Given the description of an element on the screen output the (x, y) to click on. 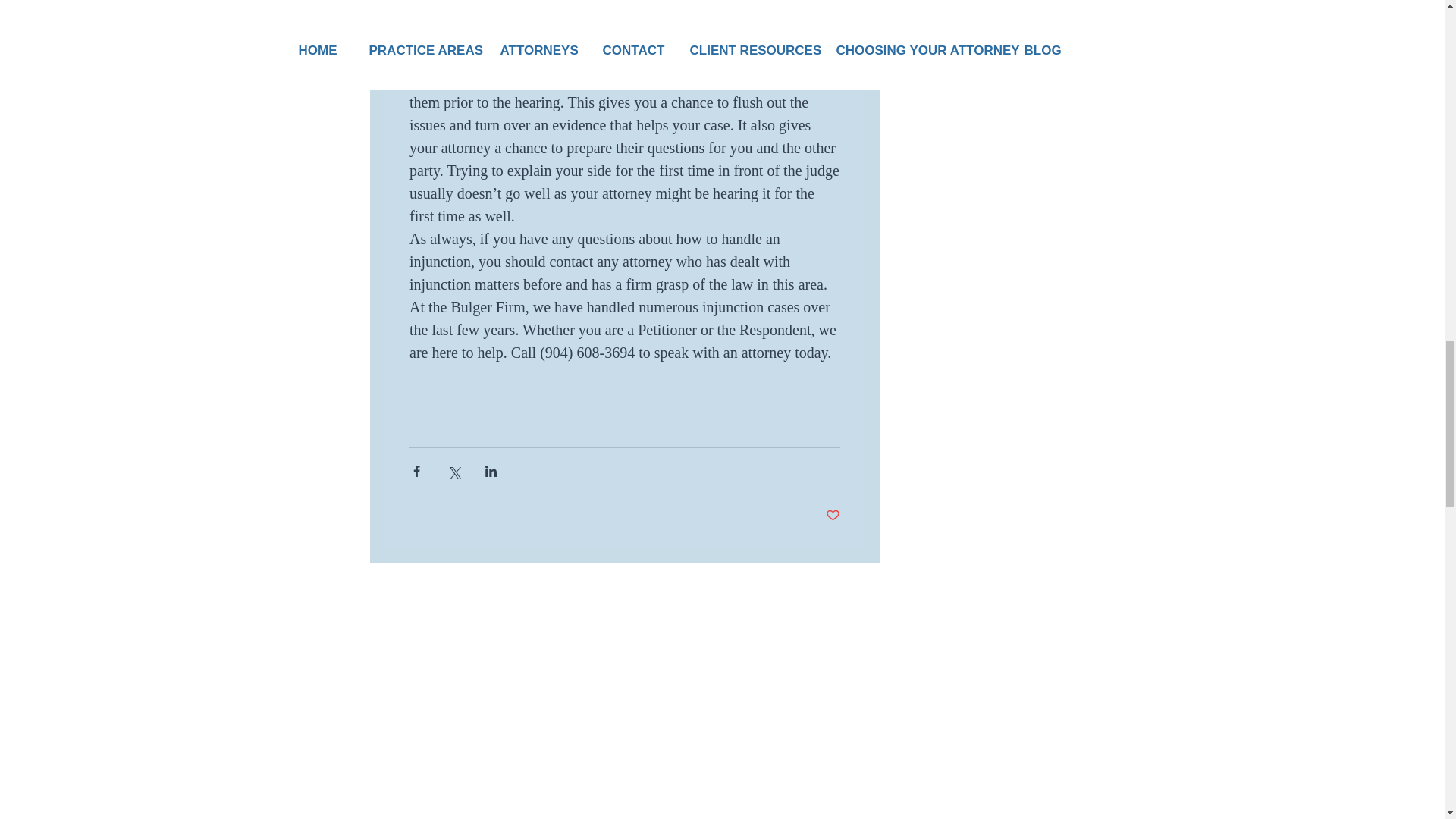
Post not marked as liked (832, 515)
